Given the description of an element on the screen output the (x, y) to click on. 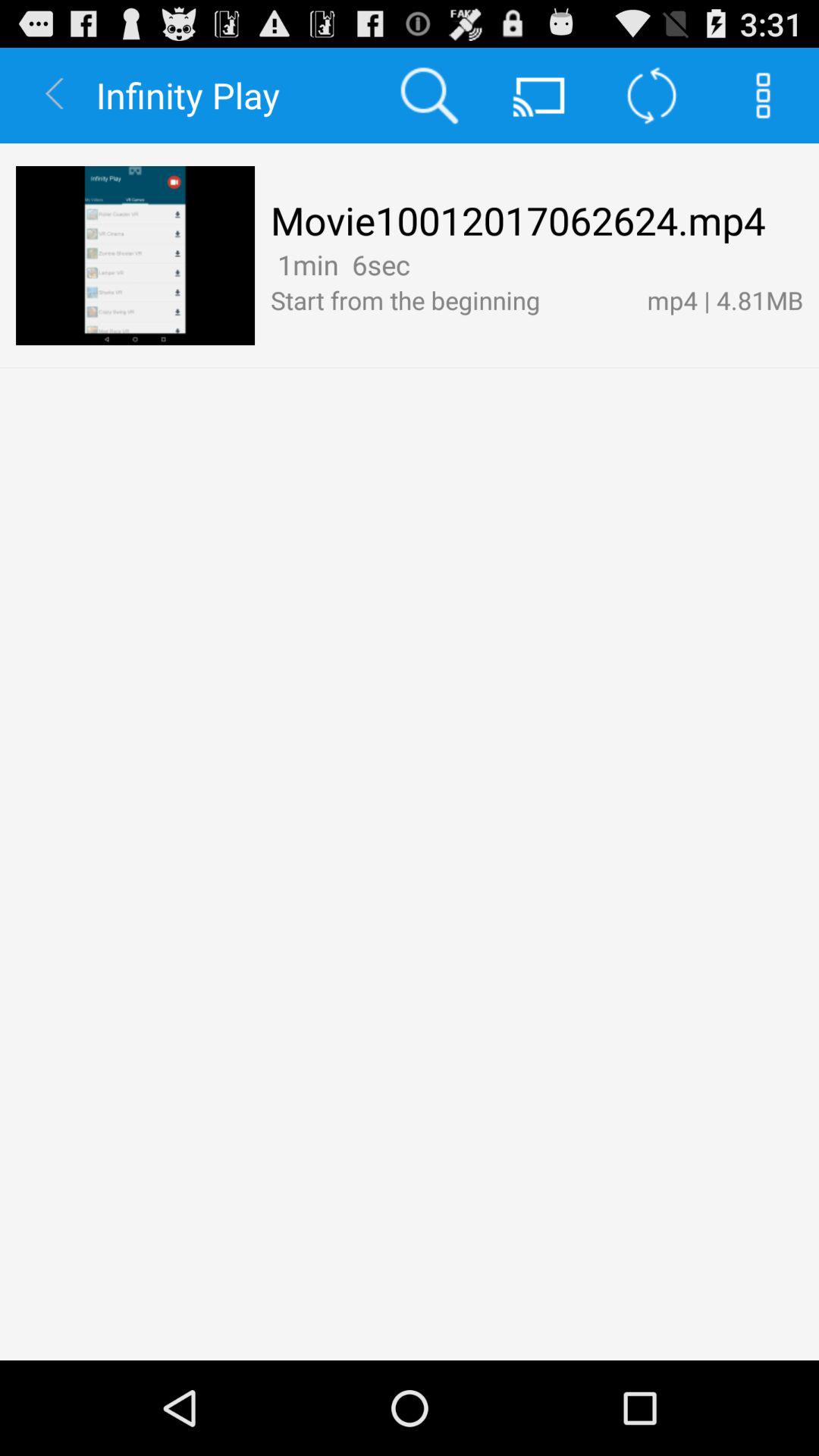
tap the app below the  1min  6sec app (450, 299)
